Given the description of an element on the screen output the (x, y) to click on. 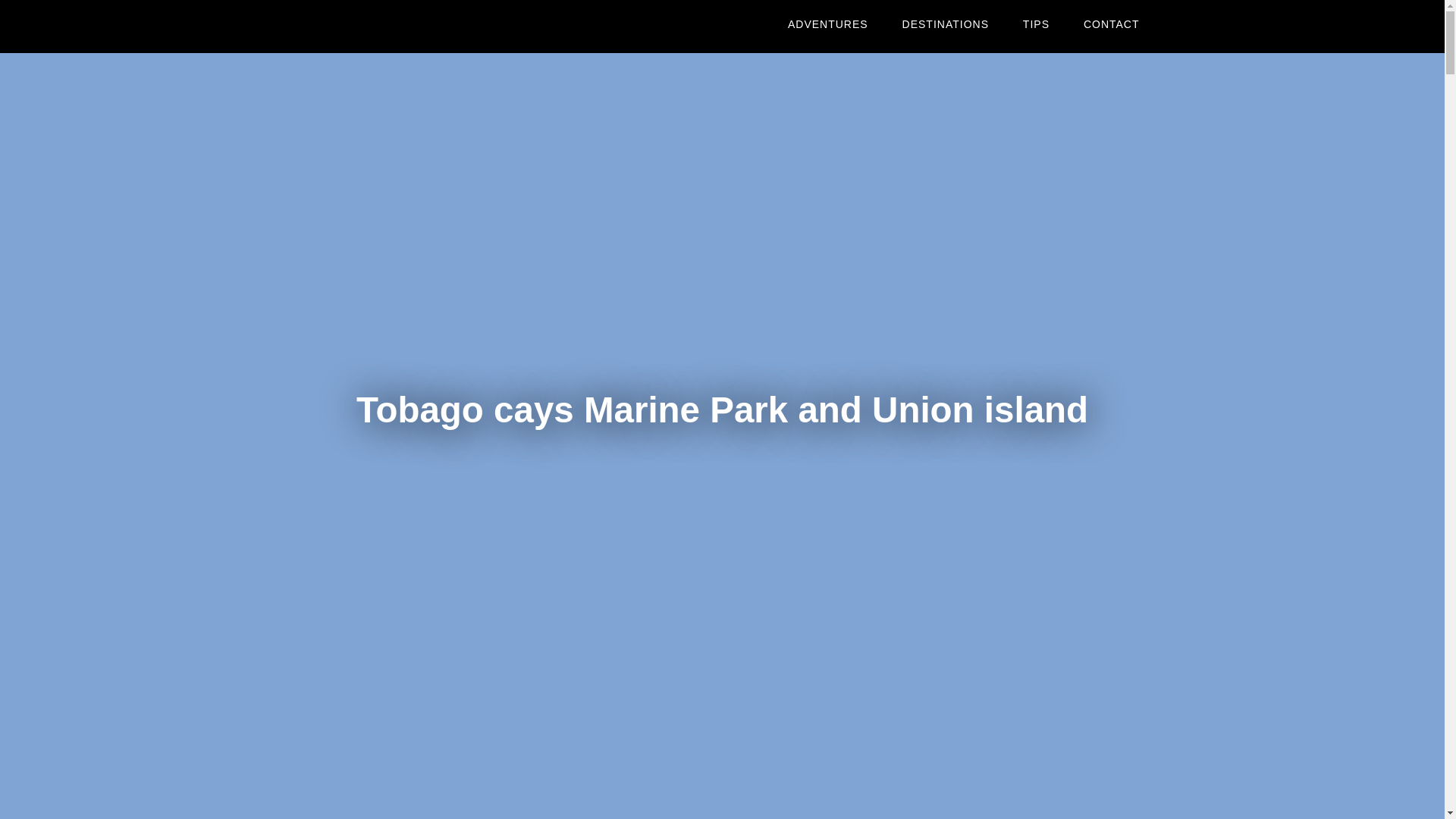
TRAVELSAURO (425, 26)
DESTINATIONS (945, 24)
ADVENTURES (828, 24)
